Given the description of an element on the screen output the (x, y) to click on. 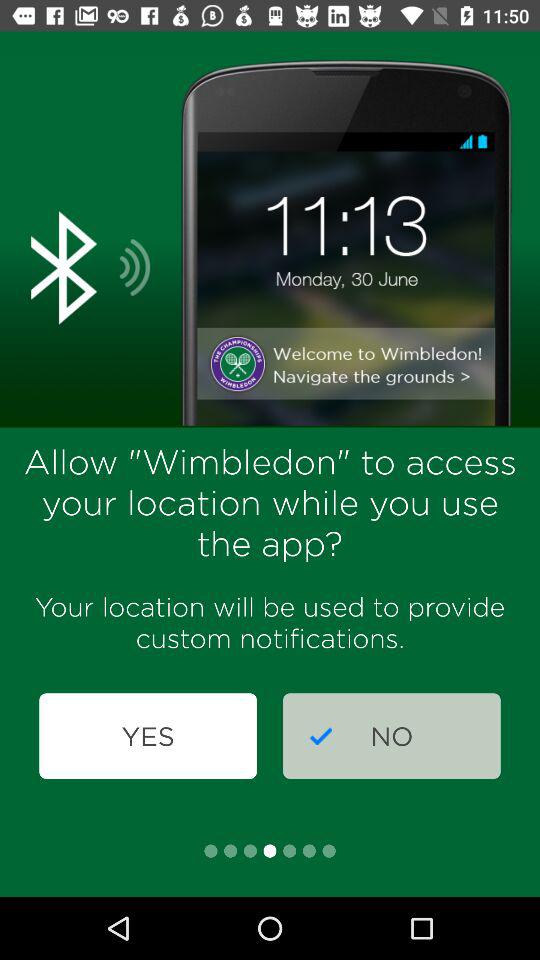
click item to the right of yes item (391, 735)
